Given the description of an element on the screen output the (x, y) to click on. 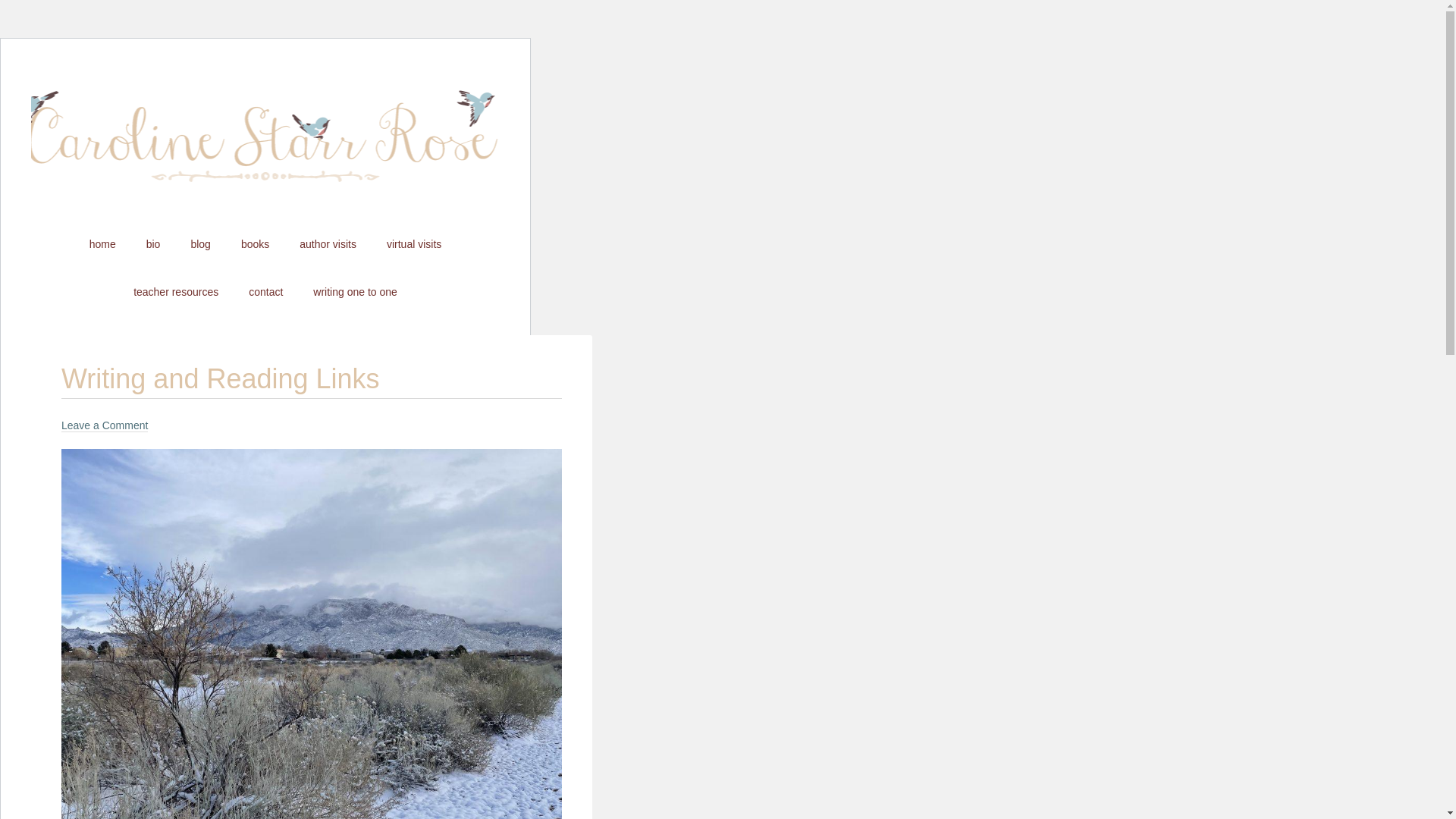
teacher resources (174, 291)
Leave a Comment (104, 425)
contact (265, 291)
CAROLINE STARR ROSE (264, 148)
virtual visits (414, 244)
author visits (327, 244)
bio (153, 244)
blog (199, 244)
writing one to one (355, 291)
home (102, 244)
